Given the description of an element on the screen output the (x, y) to click on. 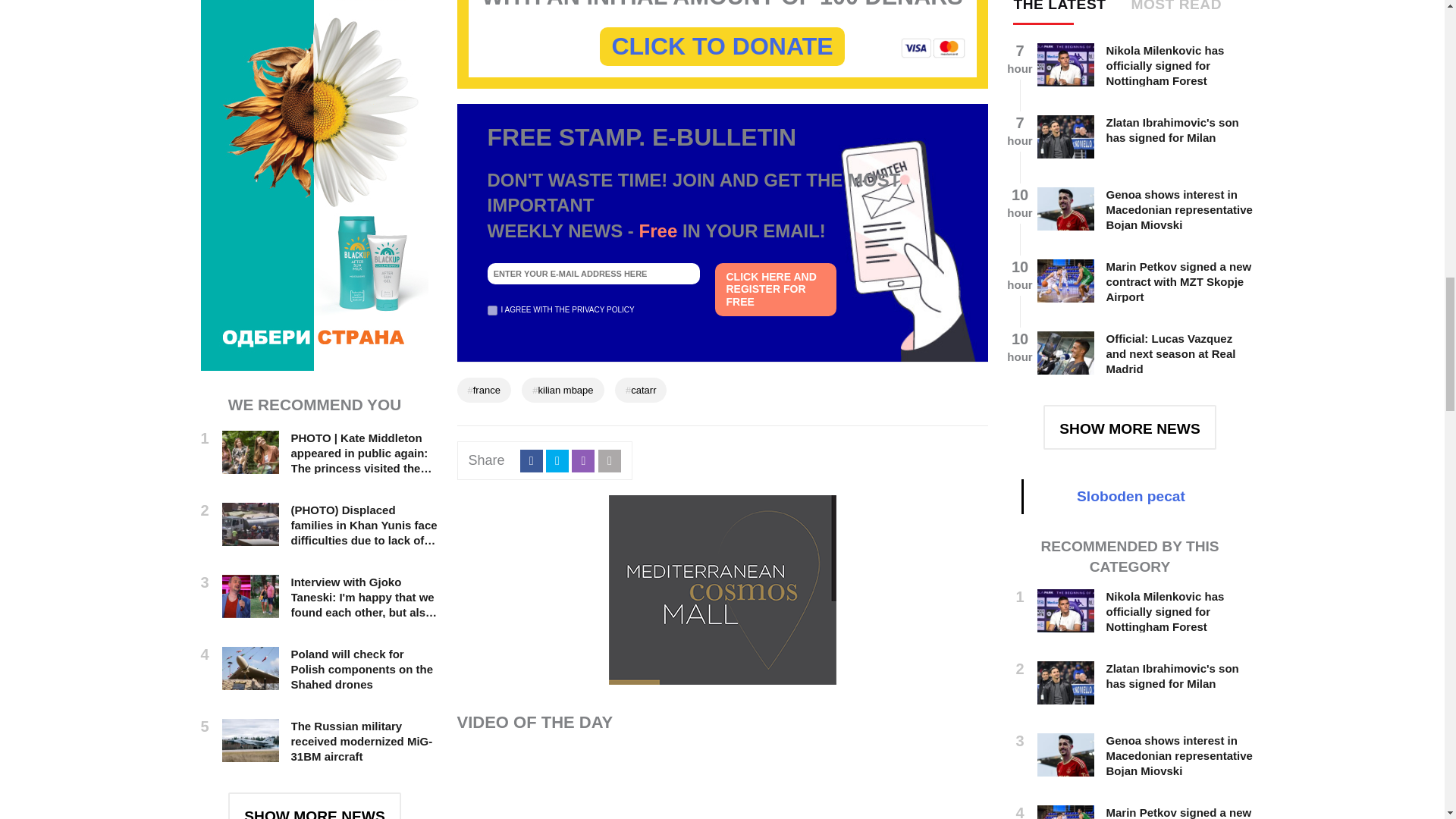
on (491, 310)
CLICK HERE AND REGISTER FOR FREE (774, 289)
